Given the description of an element on the screen output the (x, y) to click on. 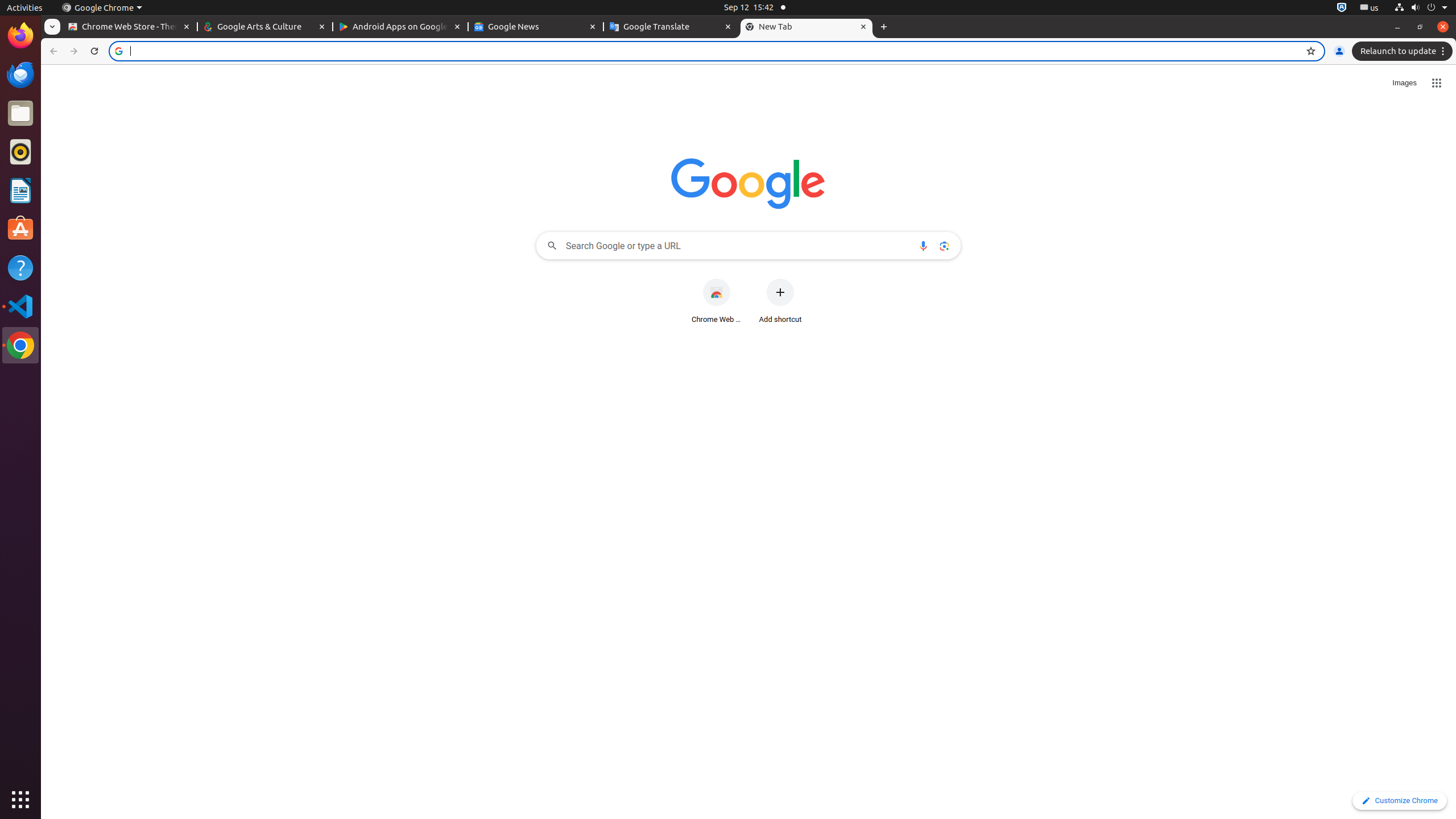
:1.21/StatusNotifierItem Element type: menu (1369, 7)
Search by voice Element type: push-button (922, 245)
Bookmark this tab Element type: push-button (1310, 51)
System Element type: menu (1420, 7)
Android Apps on Google Play - Memory usage - 60.7 MB Element type: page-tab (400, 26)
